Given the description of an element on the screen output the (x, y) to click on. 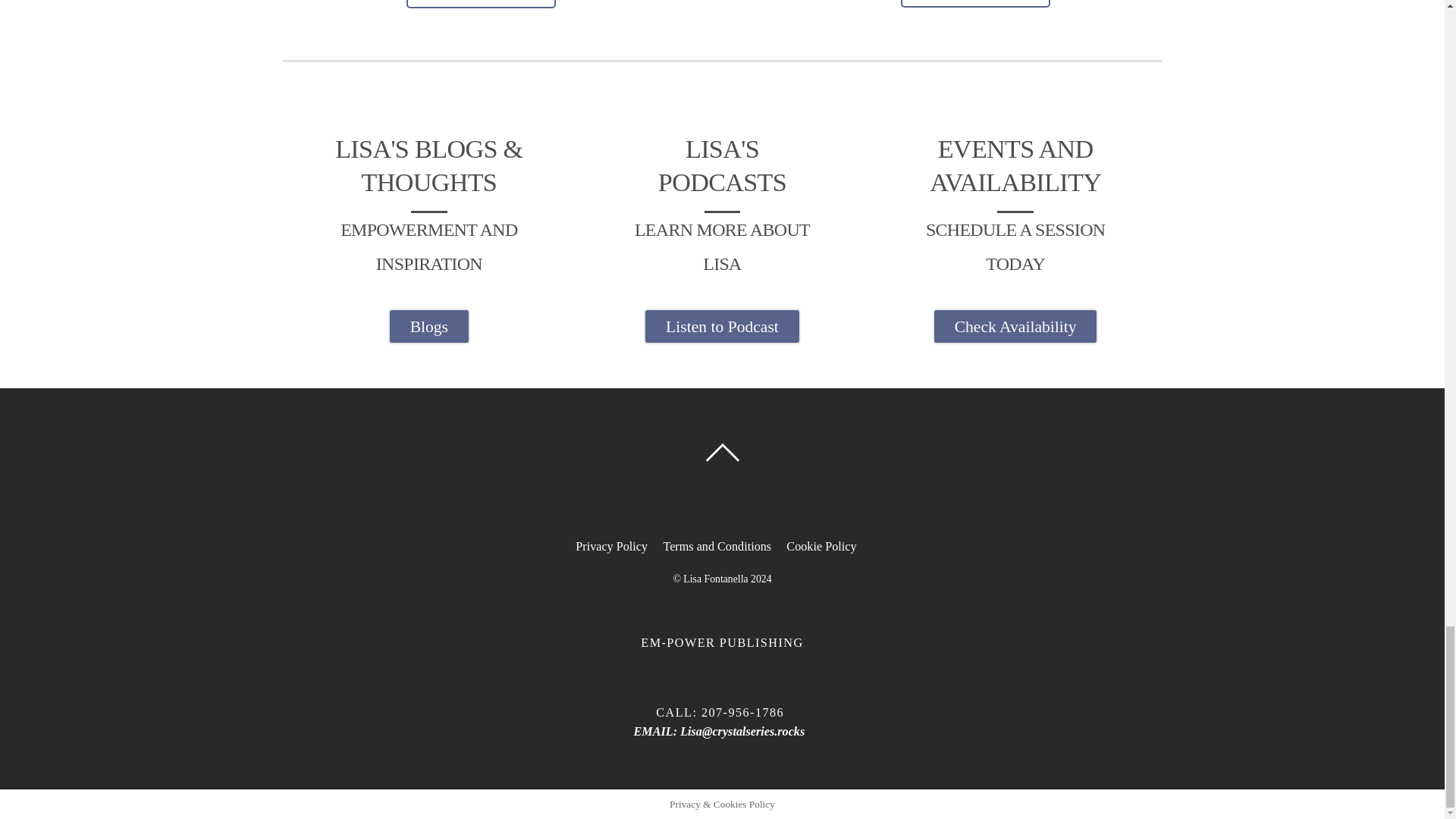
Blogs (429, 325)
LEARN MORE (975, 3)
LEARN MORE (481, 4)
Listen to Podcast (721, 325)
